Given the description of an element on the screen output the (x, y) to click on. 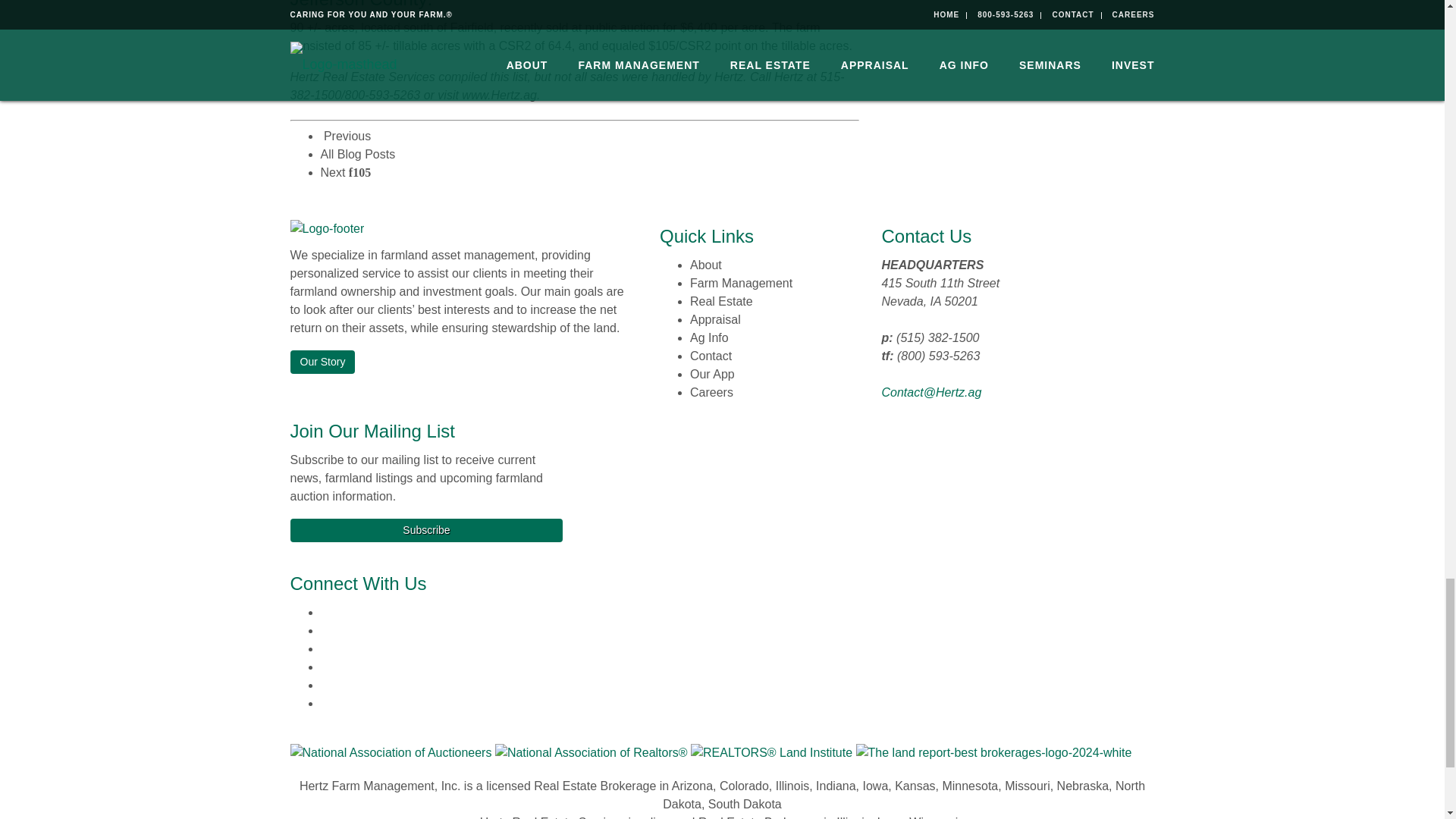
Previous (345, 135)
Our Story (322, 362)
All Blog Posts (357, 154)
Next (345, 172)
